Given the description of an element on the screen output the (x, y) to click on. 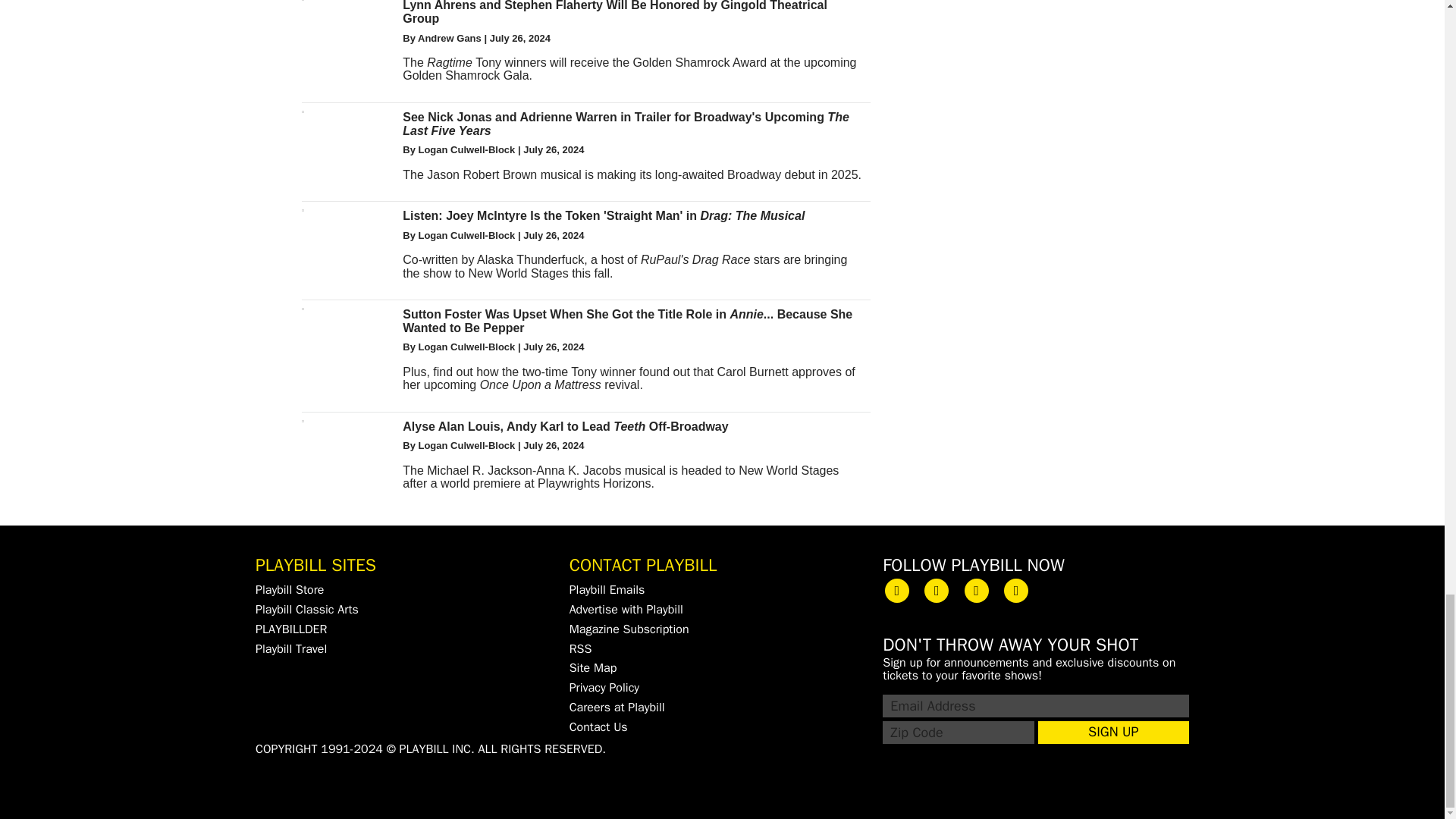
Sign Up (1113, 732)
